Given the description of an element on the screen output the (x, y) to click on. 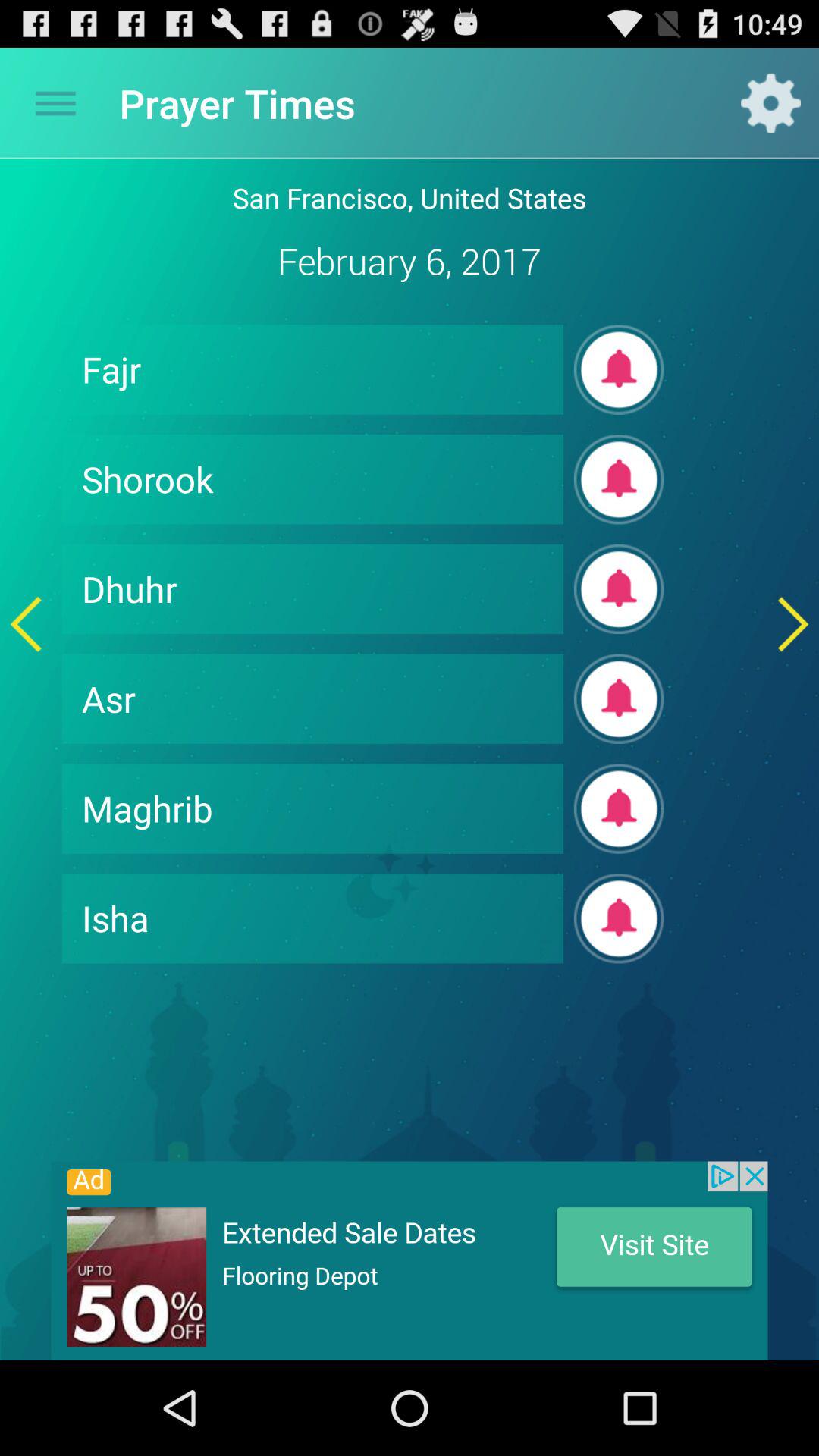
go to next (793, 624)
